Given the description of an element on the screen output the (x, y) to click on. 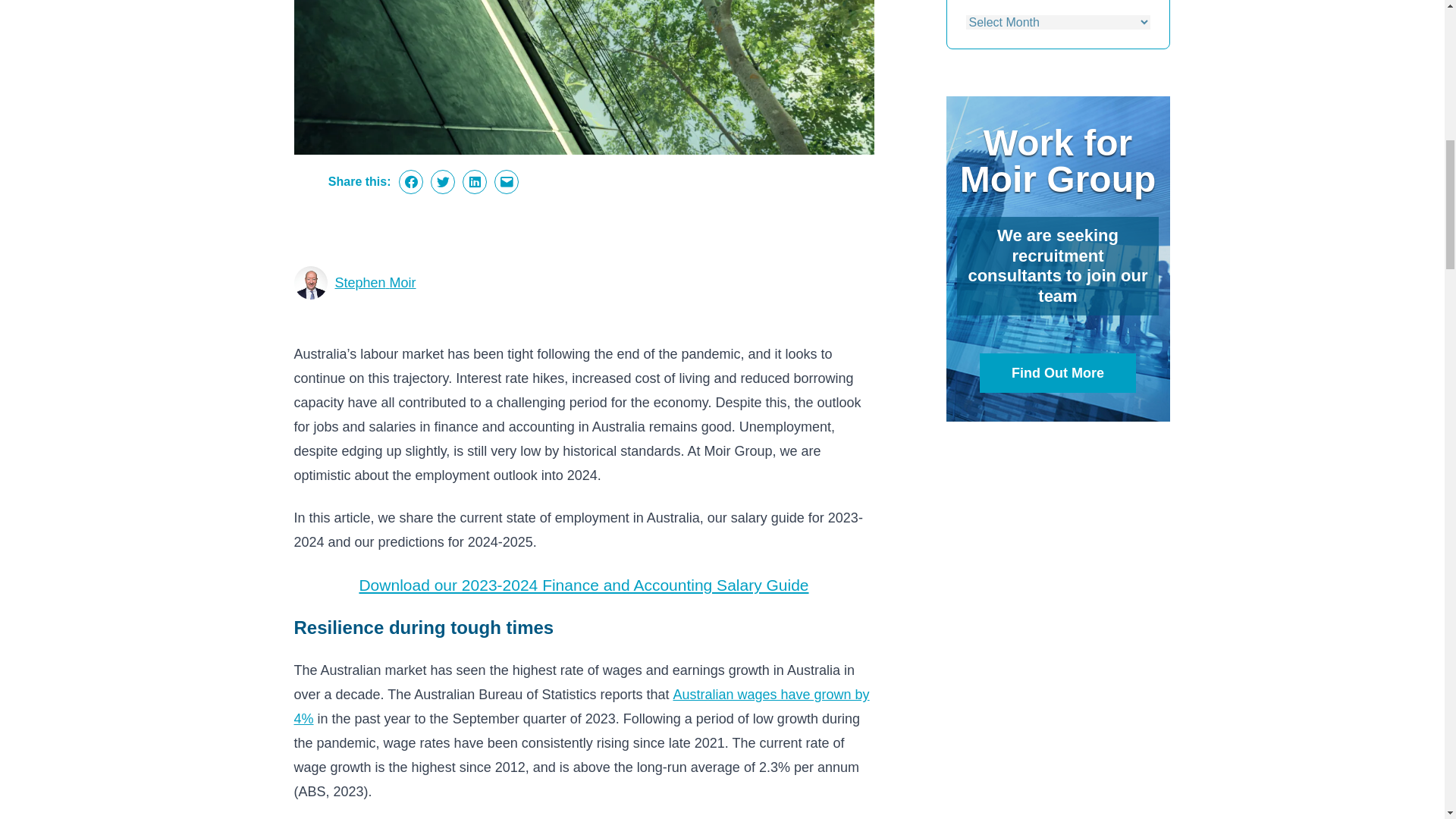
Click to email a link to a friend (506, 181)
Click to share on Facebook (410, 181)
Click to share on LinkedIn (474, 181)
Click to share on Twitter (442, 181)
